Given the description of an element on the screen output the (x, y) to click on. 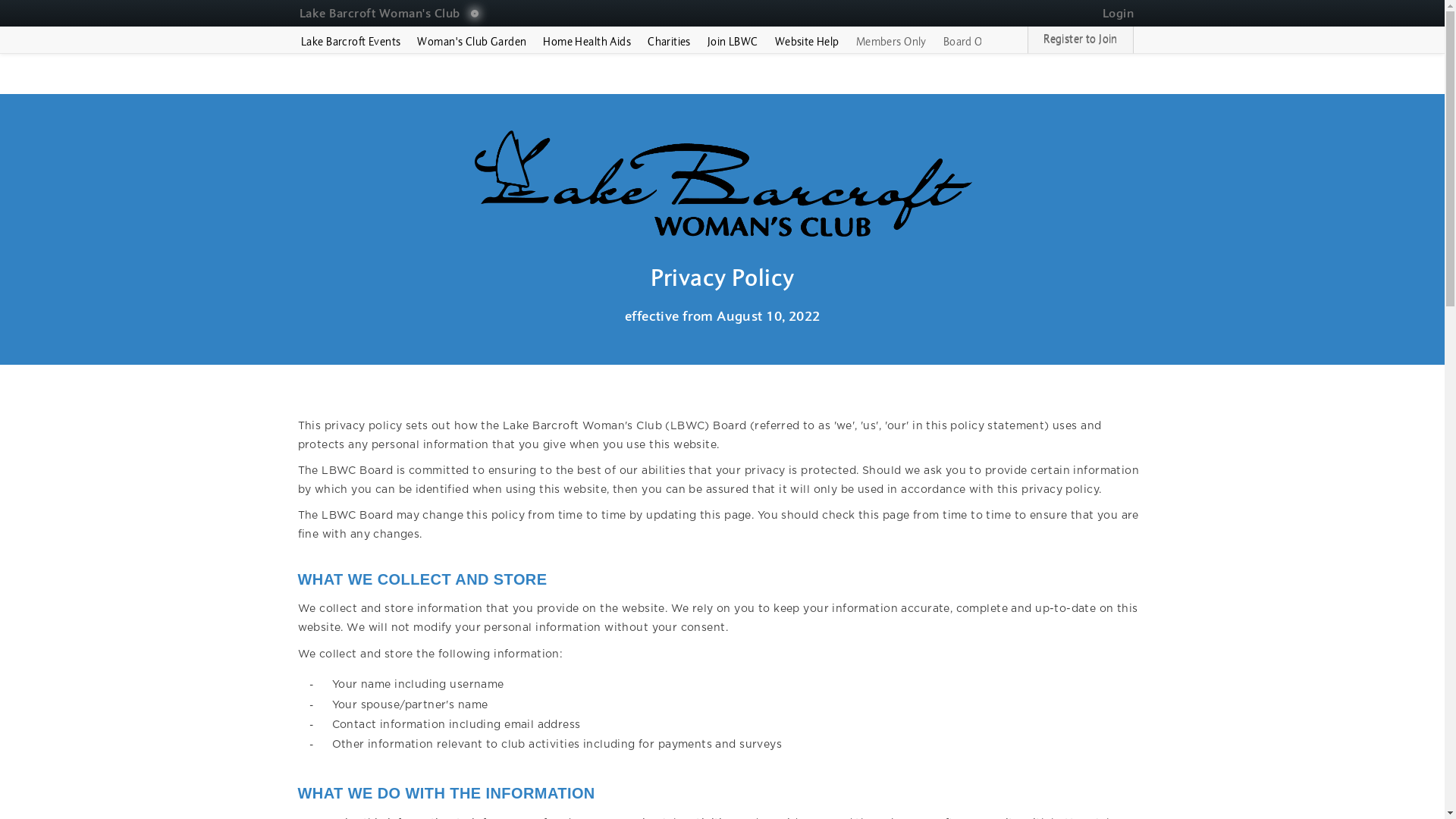
Charities Element type: text (668, 41)
Members Only Element type: text (890, 41)
Join LBWC Element type: text (732, 41)
Home Health Aids Element type: text (586, 41)
Login Element type: text (1115, 12)
Website Help Element type: text (806, 41)
Woman's Club Garden Element type: text (470, 41)
Lake Barcroft Events Element type: text (349, 41)
Lake Barcroft Woman's Club Element type: text (384, 12)
Board Only Element type: text (969, 41)
Register to Join Element type: text (1080, 39)
